Given the description of an element on the screen output the (x, y) to click on. 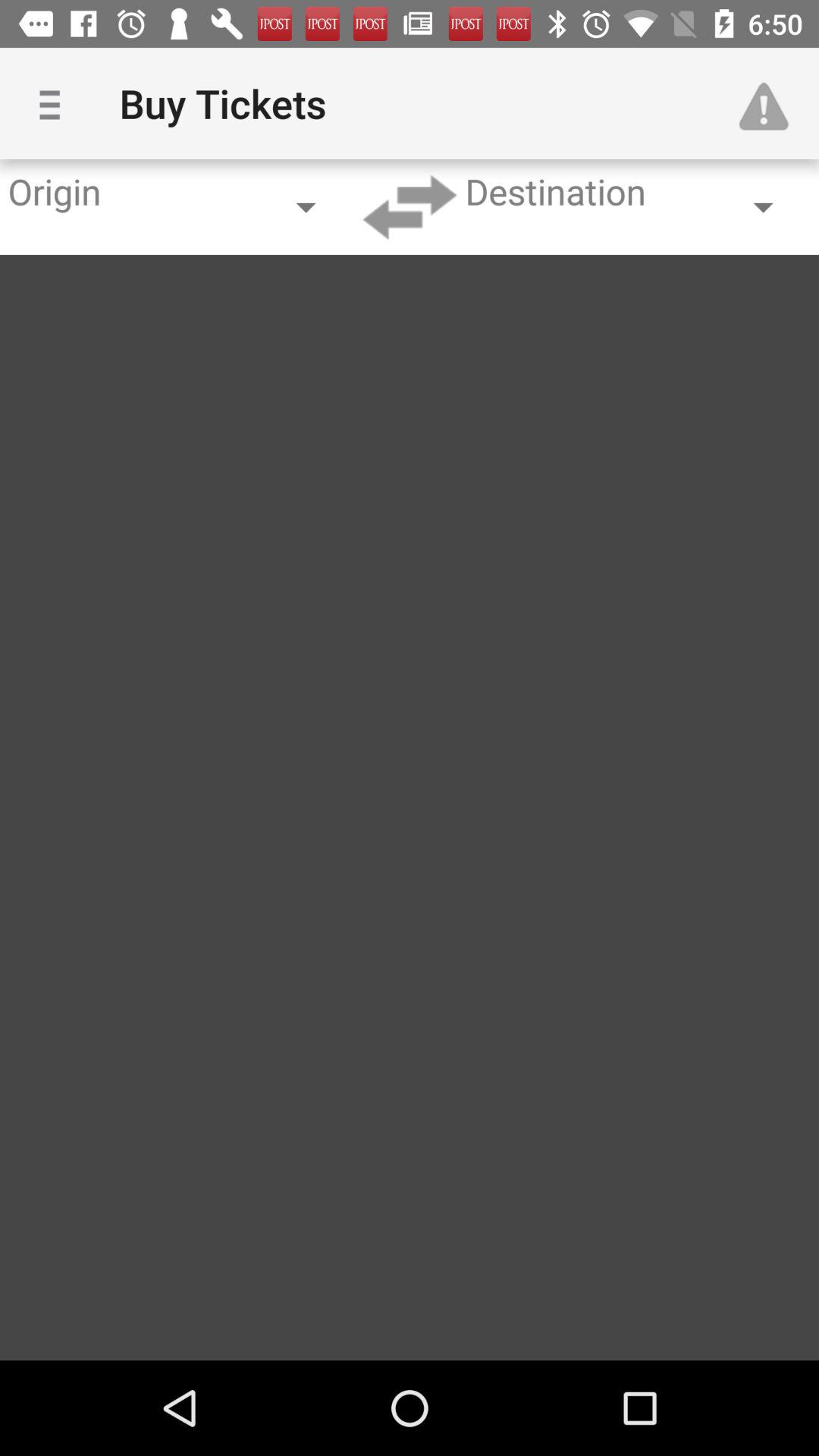
switch origin and destination (409, 206)
